Given the description of an element on the screen output the (x, y) to click on. 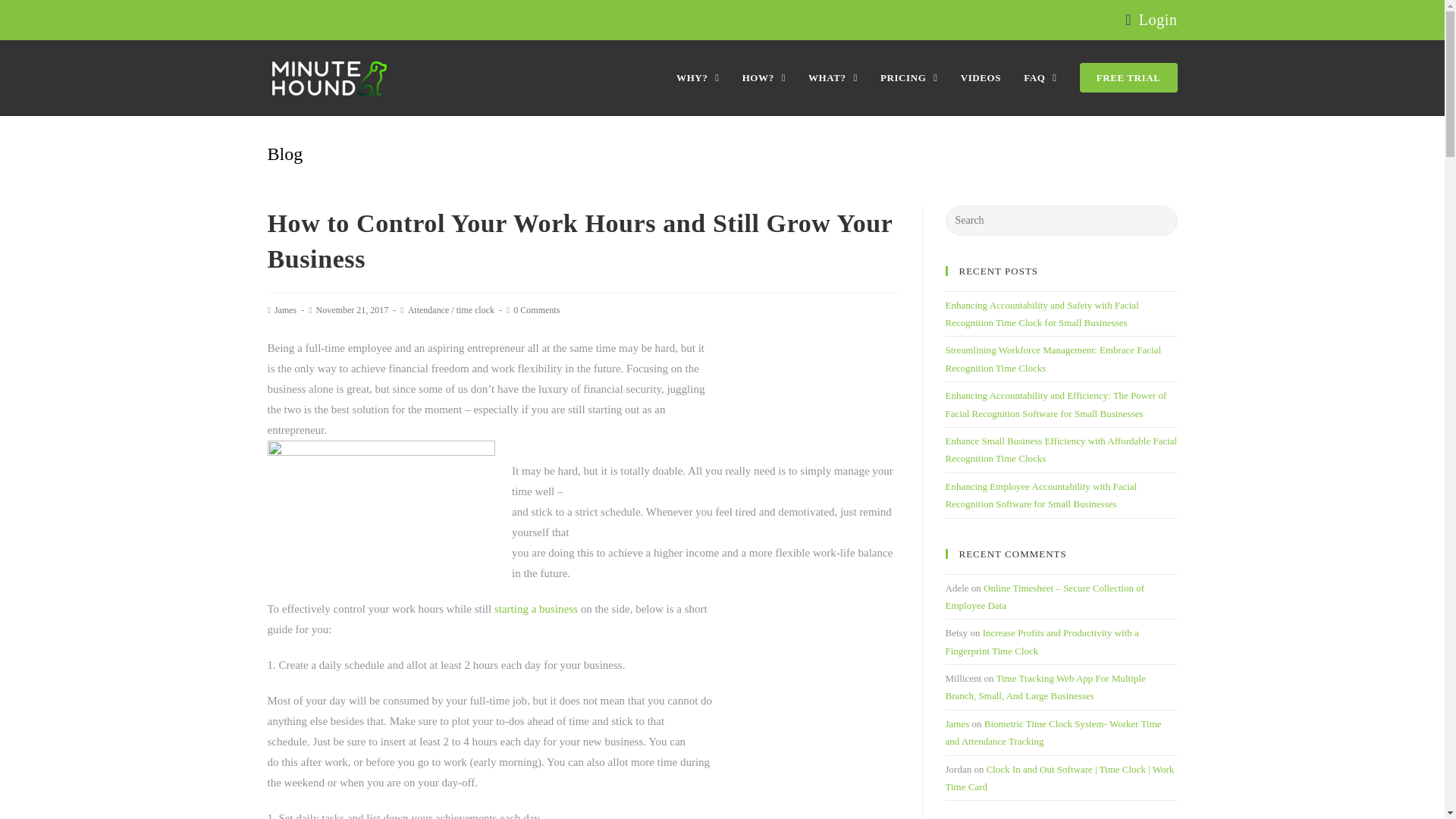
WHAT? (832, 78)
PRICING (909, 78)
FREE TRIAL (1128, 78)
starting a business (536, 608)
0 Comments (536, 309)
time clock (476, 309)
Attendance (428, 309)
James (286, 309)
Posts by James (286, 309)
Login (1157, 19)
